Given the description of an element on the screen output the (x, y) to click on. 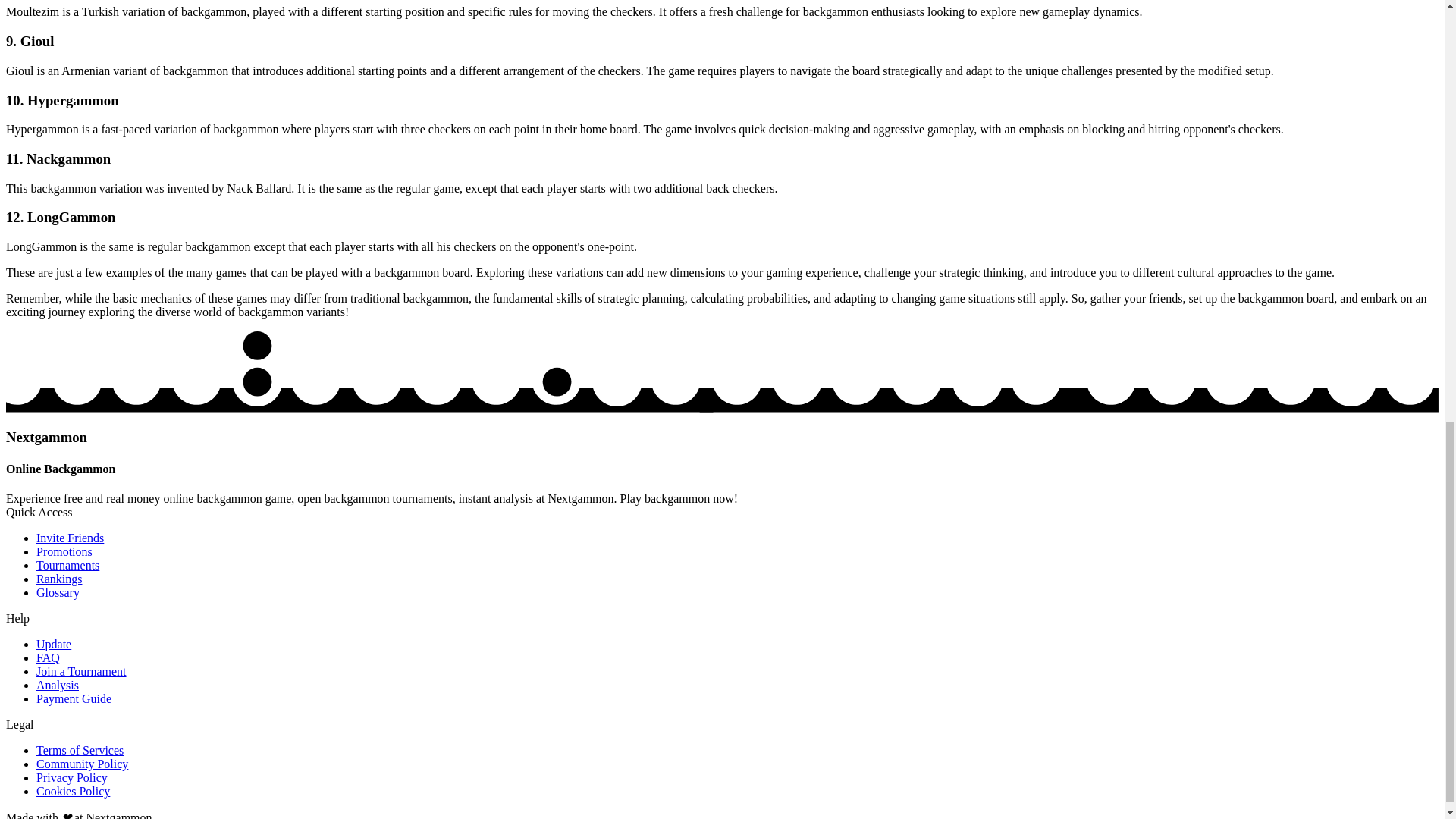
Invite Friends (69, 537)
Analysis (57, 684)
FAQ (47, 657)
Glossary (58, 592)
Tournaments (67, 564)
Update (53, 644)
Terms of Services (79, 749)
Rankings (58, 578)
Community Policy (82, 763)
Privacy Policy (71, 777)
Join a Tournament (81, 671)
Payment Guide (74, 698)
Cookies Policy (73, 790)
Promotions (64, 551)
